Given the description of an element on the screen output the (x, y) to click on. 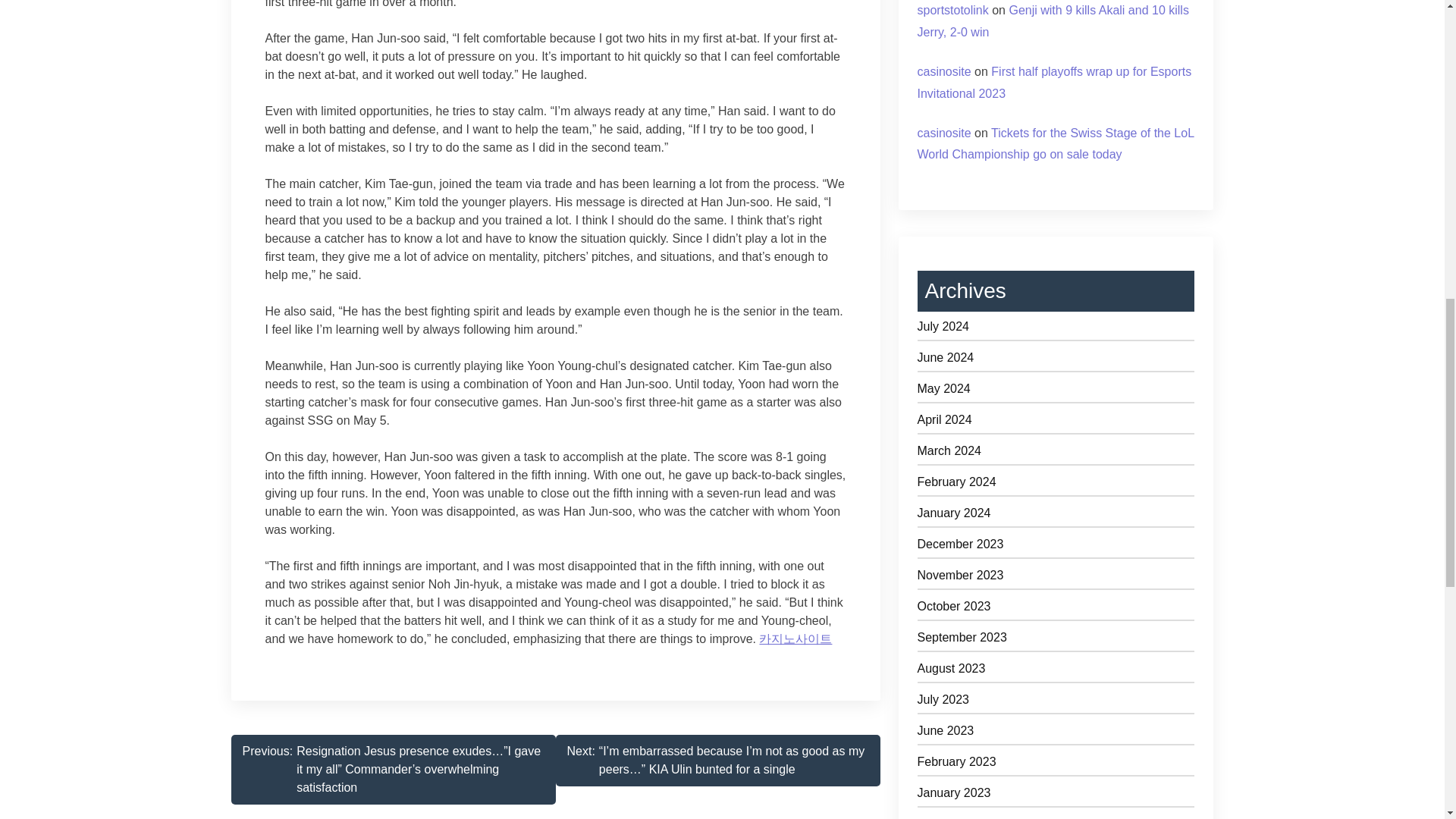
September 2023 (1056, 639)
February 2024 (1056, 484)
June 2024 (1056, 360)
November 2023 (1056, 577)
Genji with 9 kills Akali and 10 kills Jerry, 2-0 win (1053, 21)
May 2024 (1056, 391)
casinosite (944, 71)
July 2024 (1056, 329)
sportstotolink (952, 10)
March 2024 (1056, 454)
casinosite (944, 132)
April 2024 (1056, 422)
January 2024 (1056, 515)
October 2023 (1056, 608)
